Given the description of an element on the screen output the (x, y) to click on. 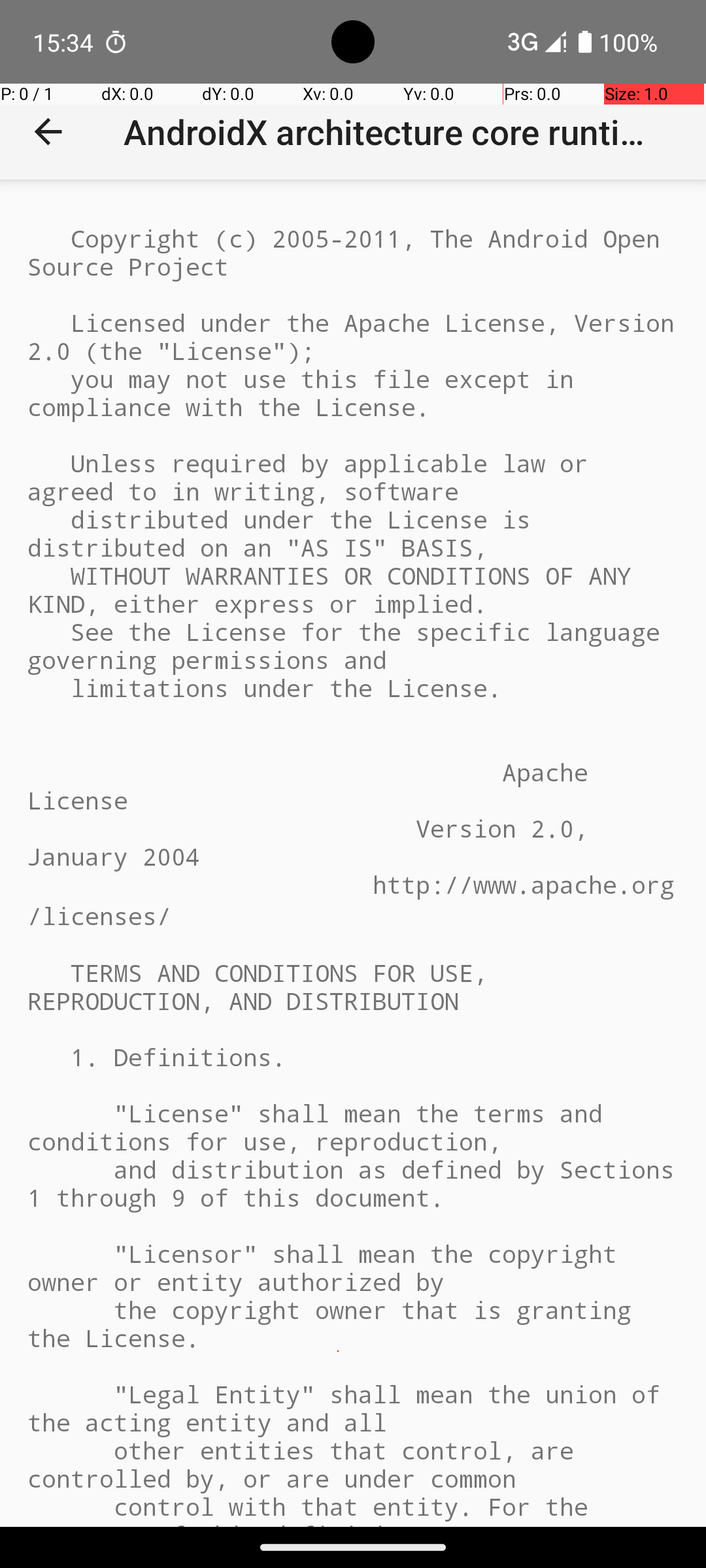
AndroidX architecture core runtime library Element type: android.widget.TextView (394, 131)

   Copyright (c) 2005-2011, The Android Open Source Project

   Licensed under the Apache License, Version 2.0 (the "License");
   you may not use this file except in compliance with the License.

   Unless required by applicable law or agreed to in writing, software
   distributed under the License is distributed on an "AS IS" BASIS,
   WITHOUT WARRANTIES OR CONDITIONS OF ANY KIND, either express or implied.
   See the License for the specific language governing permissions and
   limitations under the License.


                                 Apache License
                           Version 2.0, January 2004
                        http://www.apache.org/licenses/

   TERMS AND CONDITIONS FOR USE, REPRODUCTION, AND DISTRIBUTION

   1. Definitions.

      "License" shall mean the terms and conditions for use, reproduction,
      and distribution as defined by Sections 1 through 9 of this document.

      "Licensor" shall mean the copyright owner or entity authorized by
      the copyright owner that is granting the License.

      "Legal Entity" shall mean the union of the acting entity and all
      other entities that control, are controlled by, or are under common
      control with that entity. For the purposes of this definition,
      "control" means (i) the power, direct or indirect, to cause the
      direction or management of such entity, whether by contract or
      otherwise, or (ii) ownership of fifty percent (50%) or more of the
      outstanding shares, or (iii) beneficial ownership of such entity.

      "You" (or "Your") shall mean an individual or Legal Entity
      exercising permissions granted by this License.

      "Source" form shall mean the preferred form for making modifications,
      including but not limited to software source code, documentation
      source, and configuration files.

      "Object" form shall mean any form resulting from mechanical
      transformation or translation of a Source form, including but
      not limited to compiled object code, generated documentation,
      and conversions to other media types.

      "Work" shall mean the work of authorship, whether in Source or
      Object form, made available under the License, as indicated by a
      copyright notice that is included in or attached to the work
      (an example is provided in the Appendix below).

      "Derivative Works" shall mean any work, whether in Source or Object
      form, that is based on (or derived from) the Work and for which the
      editorial revisions, annotations, elaborations, or other modifications
      represent, as a whole, an original work of authorship. For the purposes
      of this License, Derivative Works shall not include works that remain
      separable from, or merely link (or bind by name) to the interfaces of,
      the Work and Derivative Works thereof.

      "Contribution" shall mean any work of authorship, including
      the original version of the Work and any modifications or additions
      to that Work or Derivative Works thereof, that is intentionally
      submitted to Licensor for inclusion in the Work by the copyright owner
      or by an individual or Legal Entity authorized to submit on behalf of
      the copyright owner. For the purposes of this definition, "submitted"
      means any form of electronic, verbal, or written communication sent
      to the Licensor or its representatives, including but not limited to
      communication on electronic mailing lists, source code control systems,
      and issue tracking systems that are managed by, or on behalf of, the
      Licensor for the purpose of discussing and improving the Work, but
      excluding communication that is conspicuously marked or otherwise
      designated in writing by the copyright owner as "Not a Contribution."

      "Contributor" shall mean Licensor and any individual or Legal Entity
      on behalf of whom a Contribution has been received by Licensor and
      subsequently incorporated within the Work.

   2. Grant of Copyright License. Subject to the terms and conditions of
      this License, each Contributor hereby grants to You a perpetual,
      worldwide, non-exclusive, no-charge, royalty-free, irrevocable
      copyright license to reproduce, prepare Derivative Works of,
      publicly display, publicly perform, sublicense, and distribute the
      Work and such Derivative Works in Source or Object form.

   3. Grant of Patent License. Subject to the terms and conditions of
      this License, each Contributor hereby grants to You a perpetual,
      worldwide, non-exclusive, no-charge, royalty-free, irrevocable
      (except as stated in this section) patent license to make, have made,
      use, offer to sell, sell, import, and otherwise transfer the Work,
      where such license applies only to those patent claims licensable
      by such Contributor that are necessarily infringed by their
      Contribution(s) alone or by combination of their Contribution(s)
      with the Work to which such Contribution(s) was submitted. If You
      institute patent litigation against any entity (including a
      cross-claim or counterclaim in a lawsuit) alleging that the Work
      or a Contribution incorporated within the Work constitutes direct
      or contributory patent infringement, then any patent licenses
      granted to You under this License for that Work shall terminate
      as of the date such litigation is filed.

   4. Redistribution. You may reproduce and distribute copies of the
      Work or Derivative Works thereof in any medium, with or without
      modifications, and in Source or Object form, provided that You
      meet the following conditions:

      (a) You must give any other recipients of the Work or
          Derivative Works a copy of this License; and

      (b) You must cause any modified files to carry prominent notices
          stating that You changed the files; and

      (c) You must retain, in the Source form of any Derivative Works
          that You distribute, all copyright, patent, trademark, and
          attribution notices from the Source form of the Work,
          excluding those notices that do not pertain to any part of
          the Derivative Works; and

      (d) If the Work includes a "NOTICE" text file as part of its
          distribution, then any Derivative Works that You distribute must
          include a readable copy of the attribution notices contained
          within such NOTICE file, excluding those notices that do not
          pertain to any part of the Derivative Works, in at least one
          of the following places: within a NOTICE text file distributed
          as part of the Derivative Works; within the Source form or
          documentation, if provided along with the Derivative Works; or,
          within a display generated by the Derivative Works, if and
          wherever such third-party notices normally appear. The contents
          of the NOTICE file are for informational purposes only and
          do not modify the License. You may add Your own attribution
          notices within Derivative Works that You distribute, alongside
          or as an addendum to the NOTICE text from the Work, provided
          that such additional attribution notices cannot be construed
          as modifying the License.

      You may add Your own copyright statement to Your modifications and
      may provide additional or different license terms and conditions
      for use, reproduction, or distribution of Your modifications, or
      for any such Derivative Works as a whole, provided Your use,
      reproduction, and distribution of the Work otherwise complies with
      the conditions stated in this License.

   5. Submission of Contributions. Unless You explicitly state otherwise,
      any Contribution intentionally submitted for inclusion in the Work
      by You to the Licensor shall be under the terms and conditions of
      this License, without any additional terms or conditions.
      Notwithstanding the above, nothing herein shall supersede or modify
      the terms of any separate license agreement you may have executed
      with Licensor regarding such Contributions.

   6. Trademarks. This License does not grant permission to use the trade
      names, trademarks, service marks, or product names of the Licensor,
      except as required for reasonable and customary use in describing the
      origin of the Work and reproducing the content of the NOTICE file.

   7. Disclaimer of Warranty. Unless required by applicable law or
      agreed to in writing, Licensor provides the Work (and each
      Contributor provides its Contributions) on an "AS IS" BASIS,
      WITHOUT WARRANTIES OR CONDITIONS OF ANY KIND, either express or
      implied, including, without limitation, any warranties or conditions
      of TITLE, NON-INFRINGEMENT, MERCHANTABILITY, or FITNESS FOR A
      PARTICULAR PURPOSE. You are solely responsible for determining the
      appropriateness of using or redistributing the Work and assume any
      risks associated with Your exercise of permissions under this License.

   8. Limitation of Liability. In no event and under no legal theory,
      whether in tort (including negligence), contract, or otherwise,
      unless required by applicable law (such as deliberate and grossly
      negligent acts) or agreed to in writing, shall any Contributor be
      liable to You for damages, including any direct, indirect, special,
      incidental, or consequential damages of any character arising as a
      result of this License or out of the use or inability to use the
      Work (including but not limited to damages for loss of goodwill,
      work stoppage, computer failure or malfunction, or any and all
      other commercial damages or losses), even if such Contributor
      has been advised of the possibility of such damages.

   9. Accepting Warranty or Additional Liability. While redistributing
      the Work or Derivative Works thereof, You may choose to offer,
      and charge a fee for, acceptance of support, warranty, indemnity,
      or other liability obligations and/or rights consistent with this
      License. However, in accepting such obligations, You may act only
      on Your own behalf and on Your sole responsibility, not on behalf
      of any other Contributor, and only if You agree to indemnify,
      defend, and hold each Contributor harmless for any liability
      incurred by, or claims asserted against, such Contributor by reason
      of your accepting any such warranty or additional liability.

   END OF TERMS AND CONDITIONS
 Element type: android.widget.TextView (353, 852)
